Given the description of an element on the screen output the (x, y) to click on. 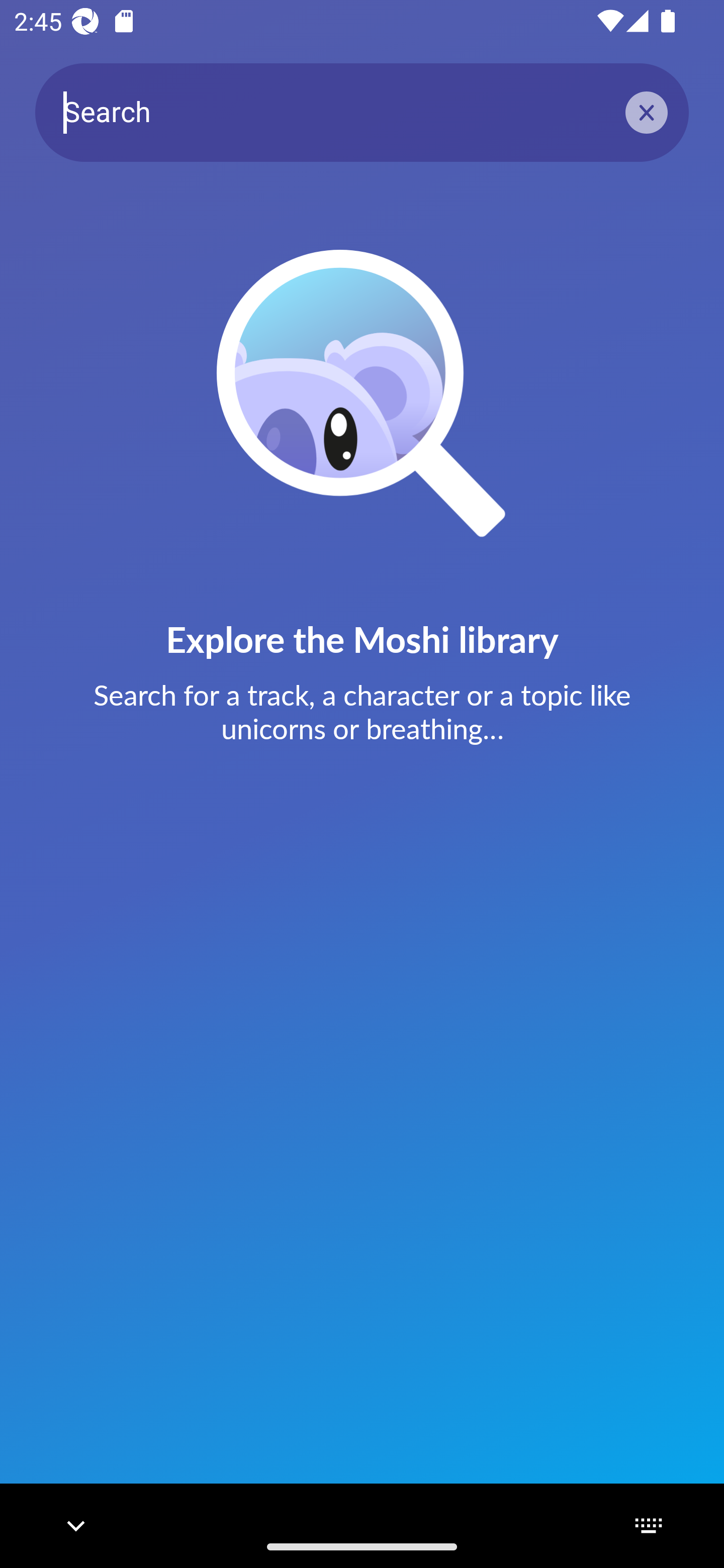
Search (361, 111)
